Given the description of an element on the screen output the (x, y) to click on. 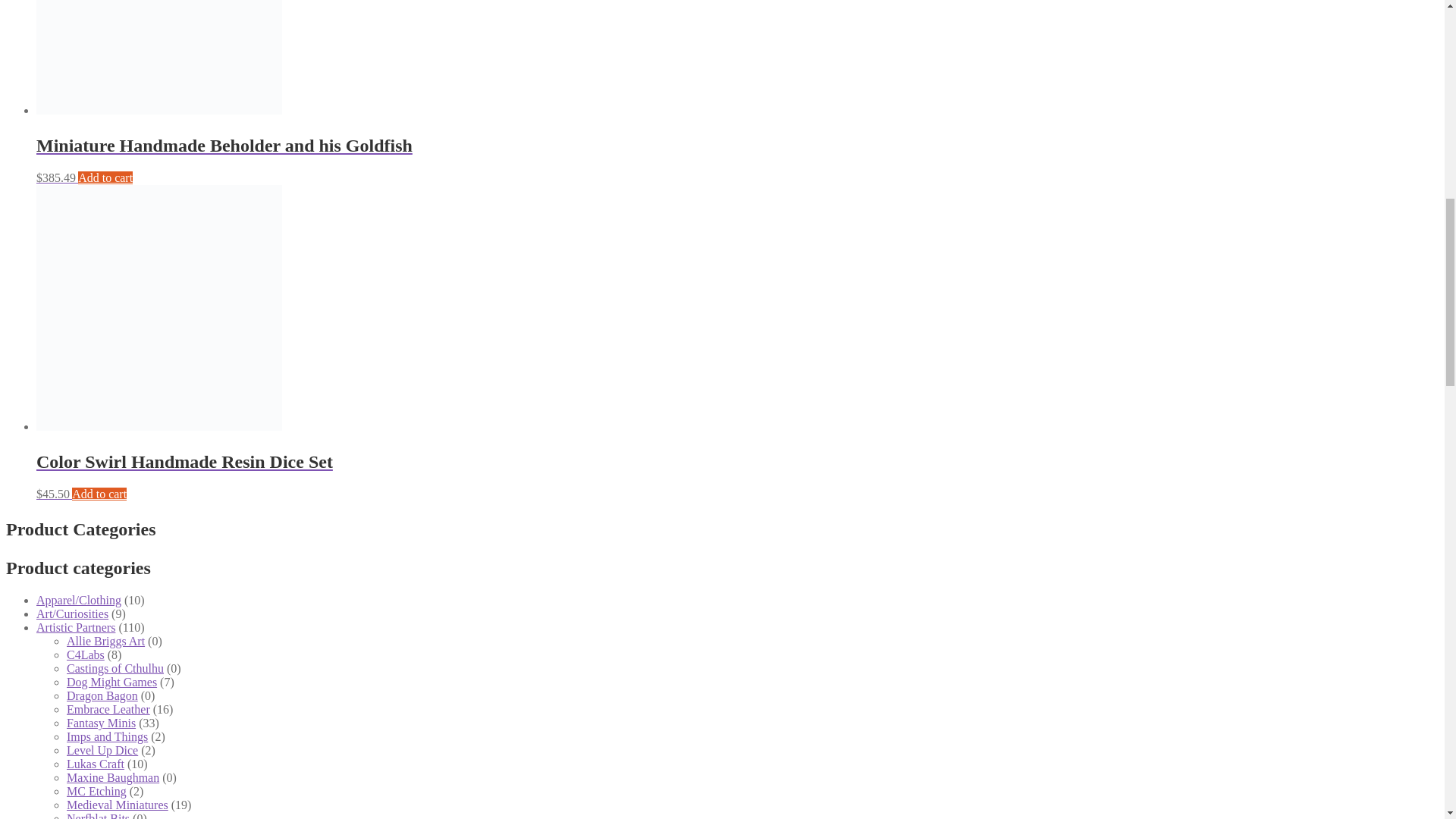
Add to cart (98, 493)
Artistic Partners (75, 626)
Allie Briggs Art (105, 640)
Add to cart (105, 177)
C4Labs (85, 654)
Castings of Cthulhu (114, 667)
Dog Might Games (111, 681)
